Given the description of an element on the screen output the (x, y) to click on. 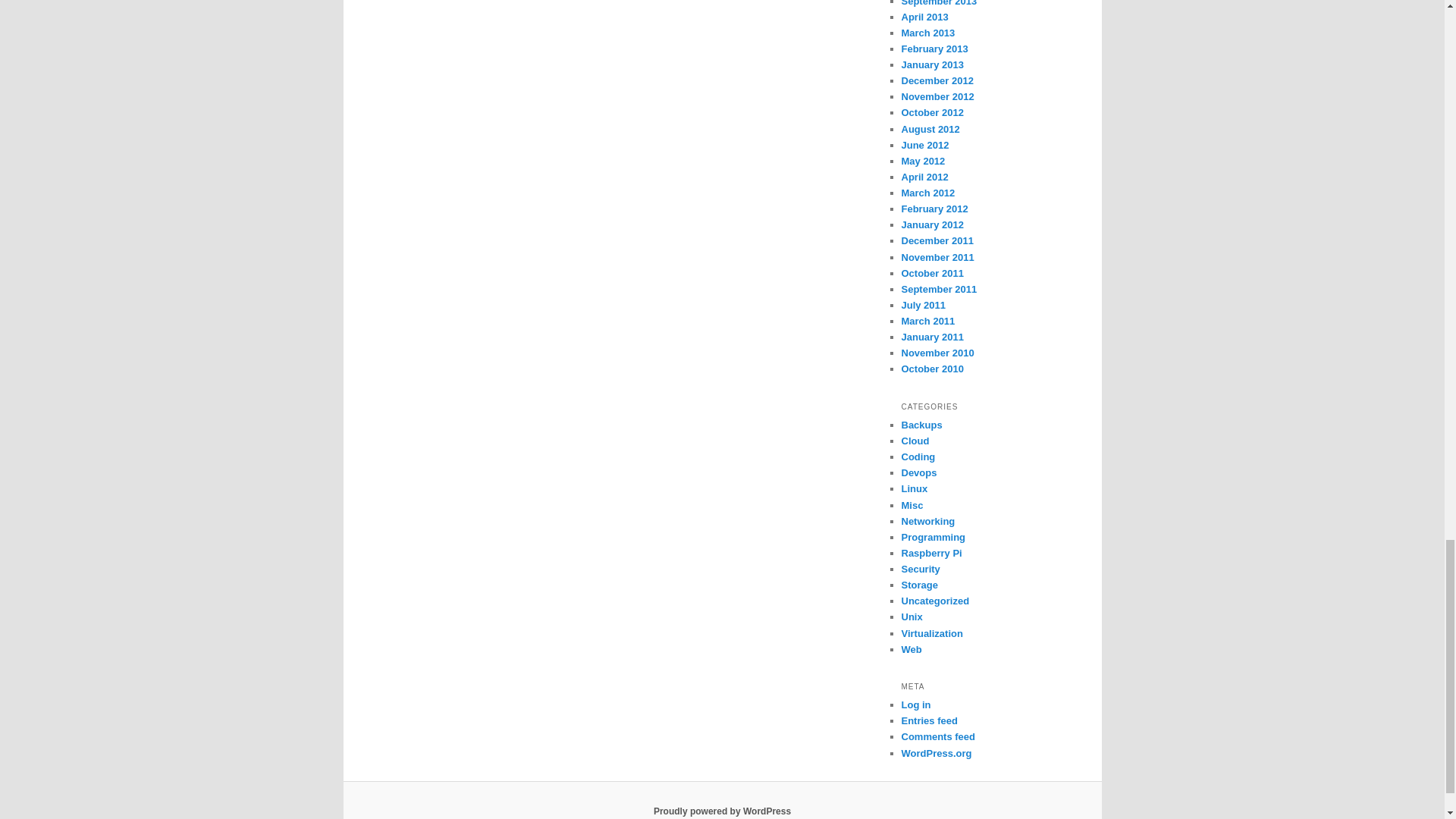
Semantic Personal Publishing Platform (721, 810)
